Given the description of an element on the screen output the (x, y) to click on. 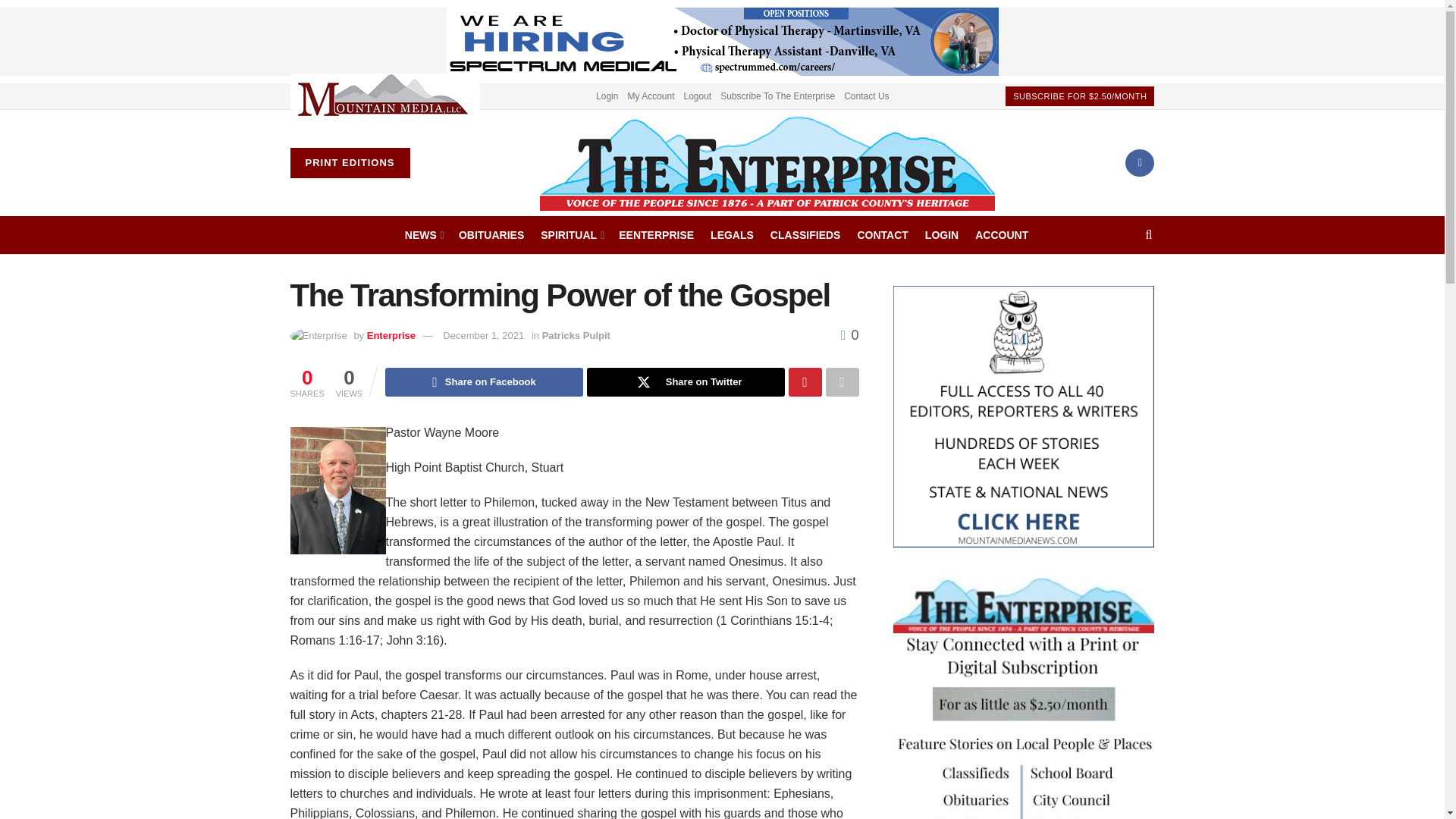
LOGIN (941, 234)
Contact Us (866, 95)
EENTERPRISE (656, 234)
PRINT EDITIONS (349, 163)
ACCOUNT (1001, 234)
Logout (697, 95)
OBITUARIES (491, 234)
My Account (650, 95)
CONTACT (882, 234)
NEWS (423, 234)
LEGALS (732, 234)
SPIRITUAL (571, 234)
CLASSIFIEDS (805, 234)
Login (606, 95)
Subscribe To The Enterprise (777, 95)
